Given the description of an element on the screen output the (x, y) to click on. 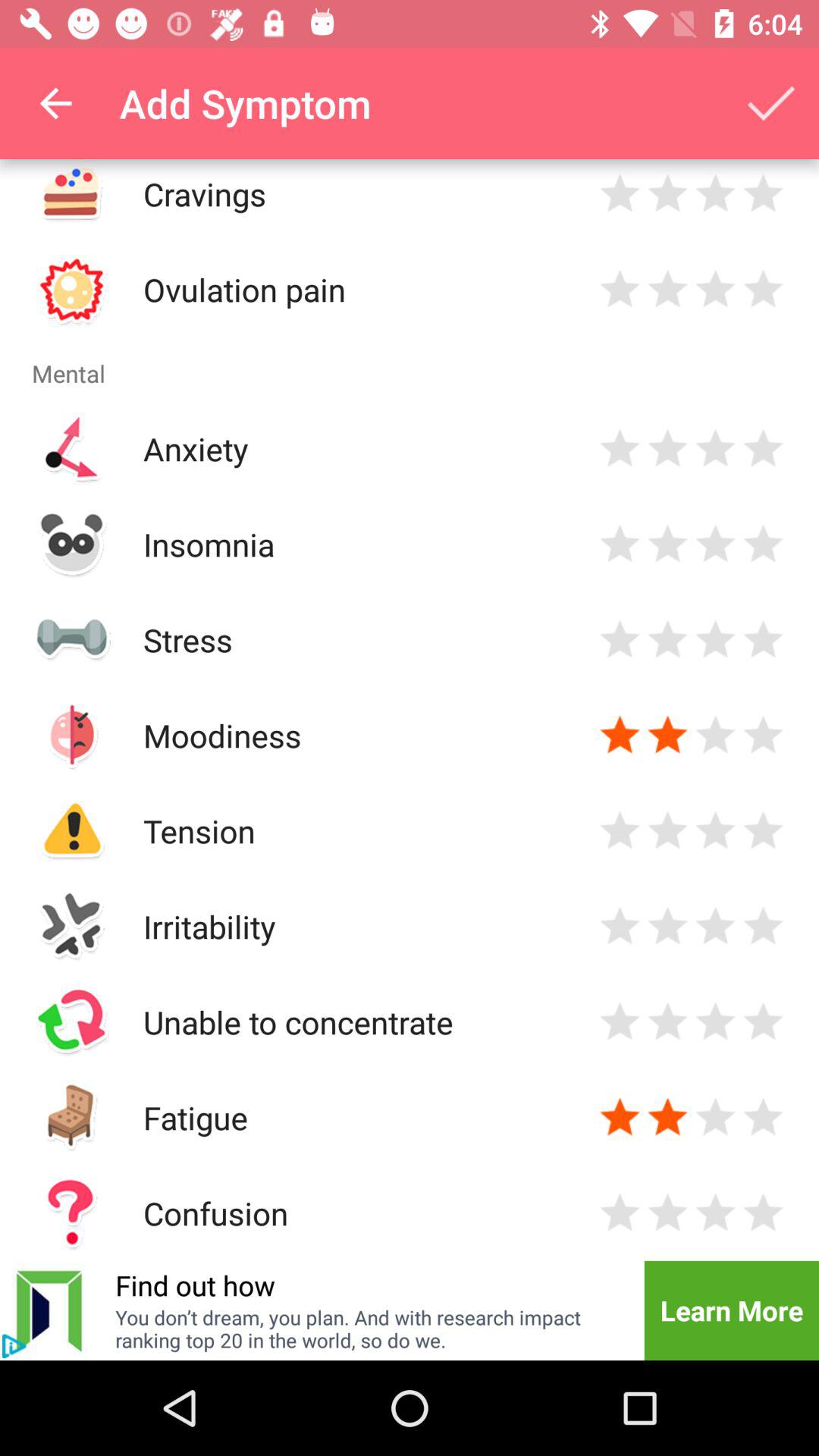
rate 2 stars (667, 1213)
